Given the description of an element on the screen output the (x, y) to click on. 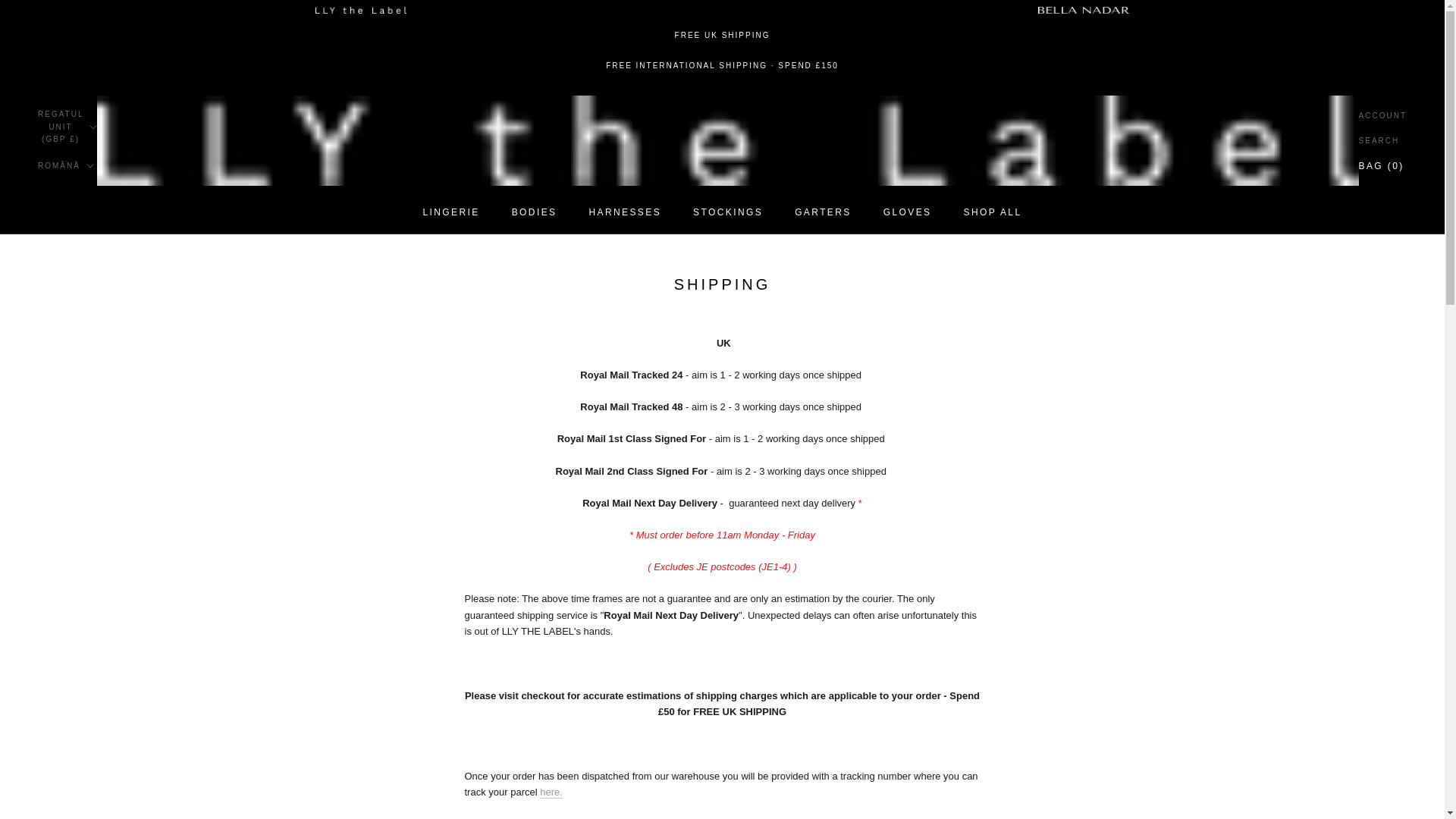
DZ (193, 211)
ZA (193, 171)
SA (193, 312)
AG (193, 291)
AL (193, 190)
AO (193, 251)
AD (193, 231)
AI (907, 212)
